Given the description of an element on the screen output the (x, y) to click on. 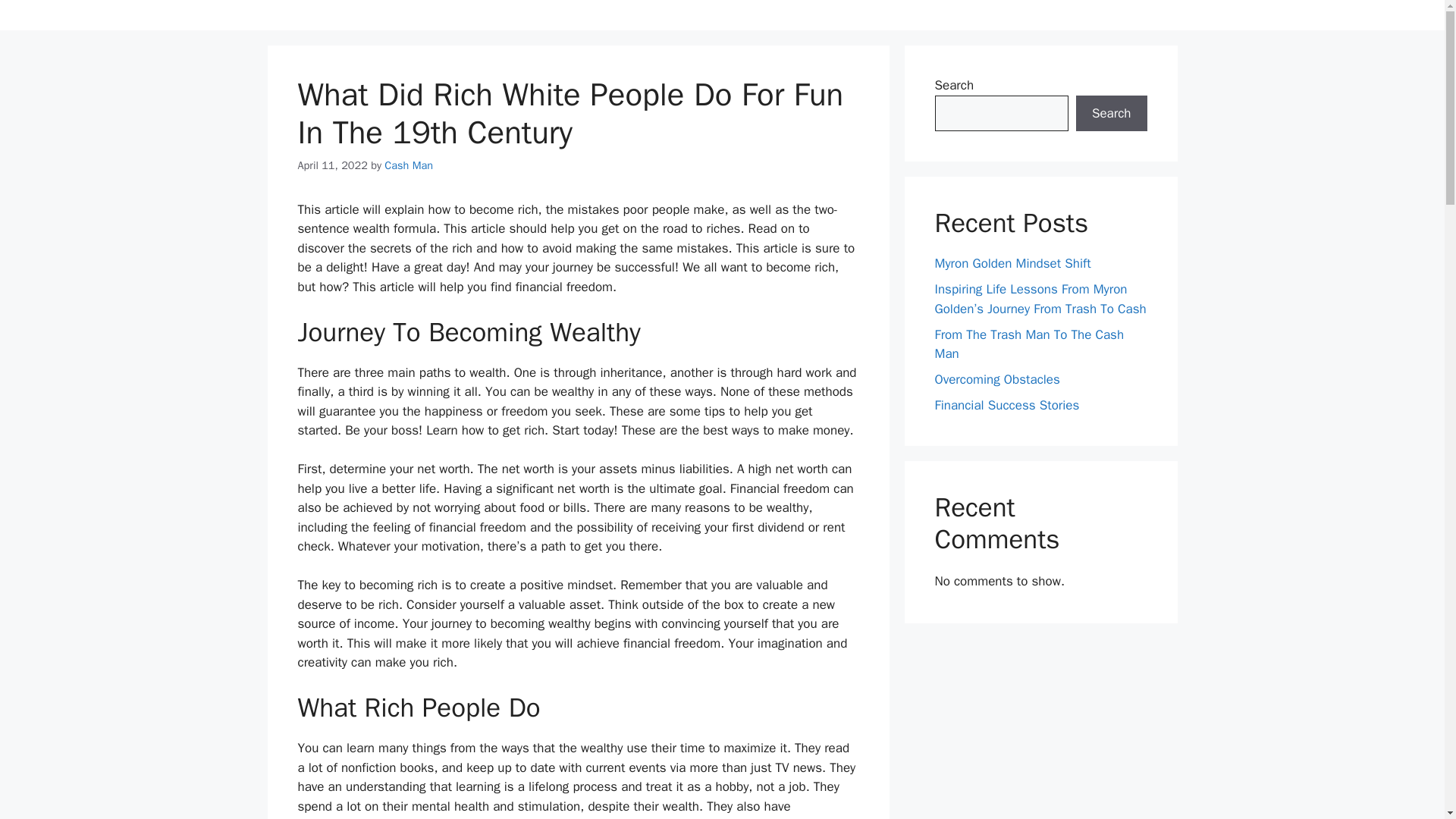
From The Trash Man To The Cash Man (1029, 343)
Cash Man (408, 164)
Search (1111, 113)
View all posts by Cash Man (408, 164)
Overcoming Obstacles (996, 379)
Financial Success Stories (1006, 405)
Myron Golden Mindset Shift (1012, 263)
